Given the description of an element on the screen output the (x, y) to click on. 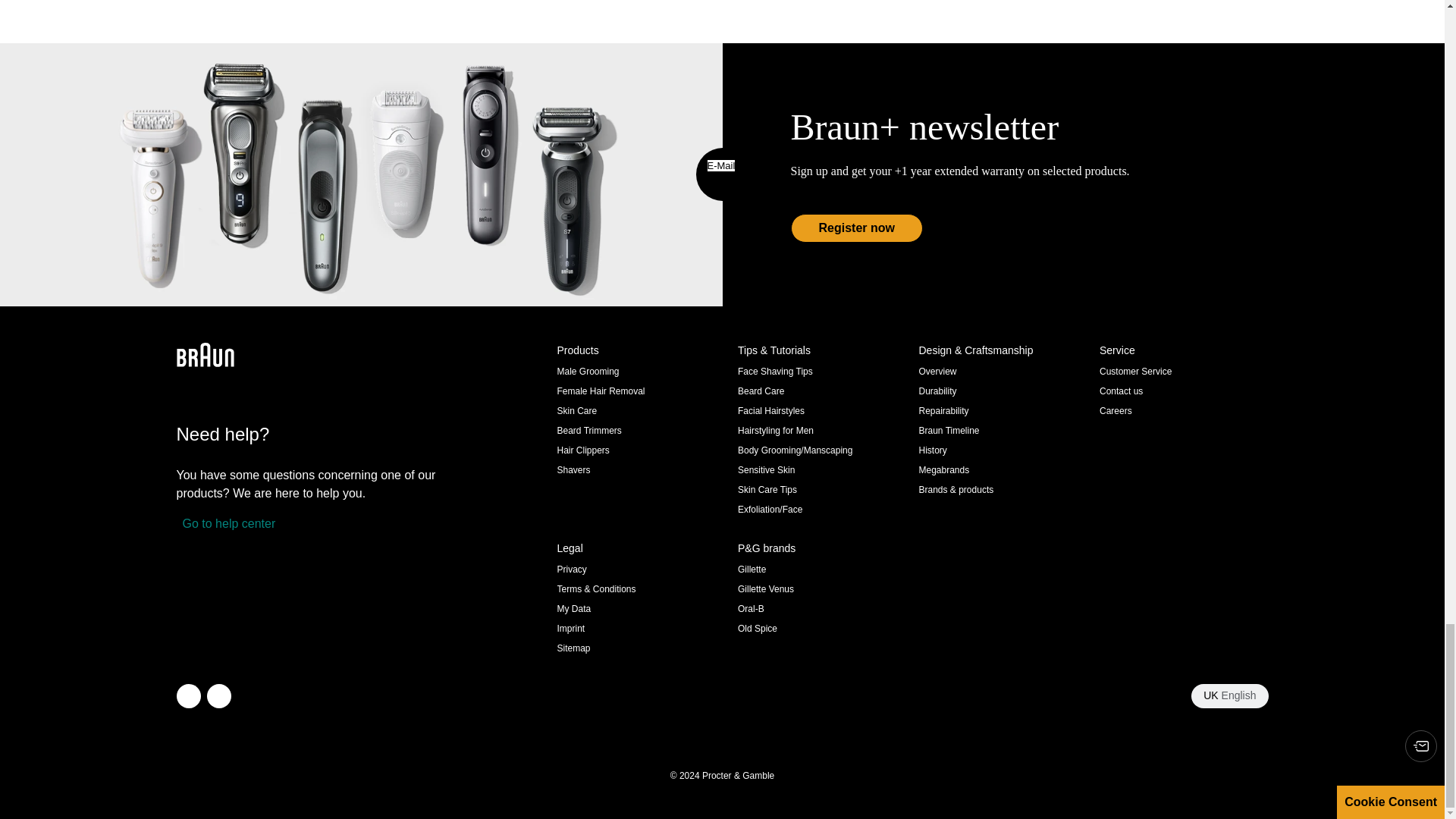
Female Hair Removal (600, 390)
Products (640, 350)
Register now (855, 227)
Go to help center (225, 524)
Male Grooming (587, 371)
